Given the description of an element on the screen output the (x, y) to click on. 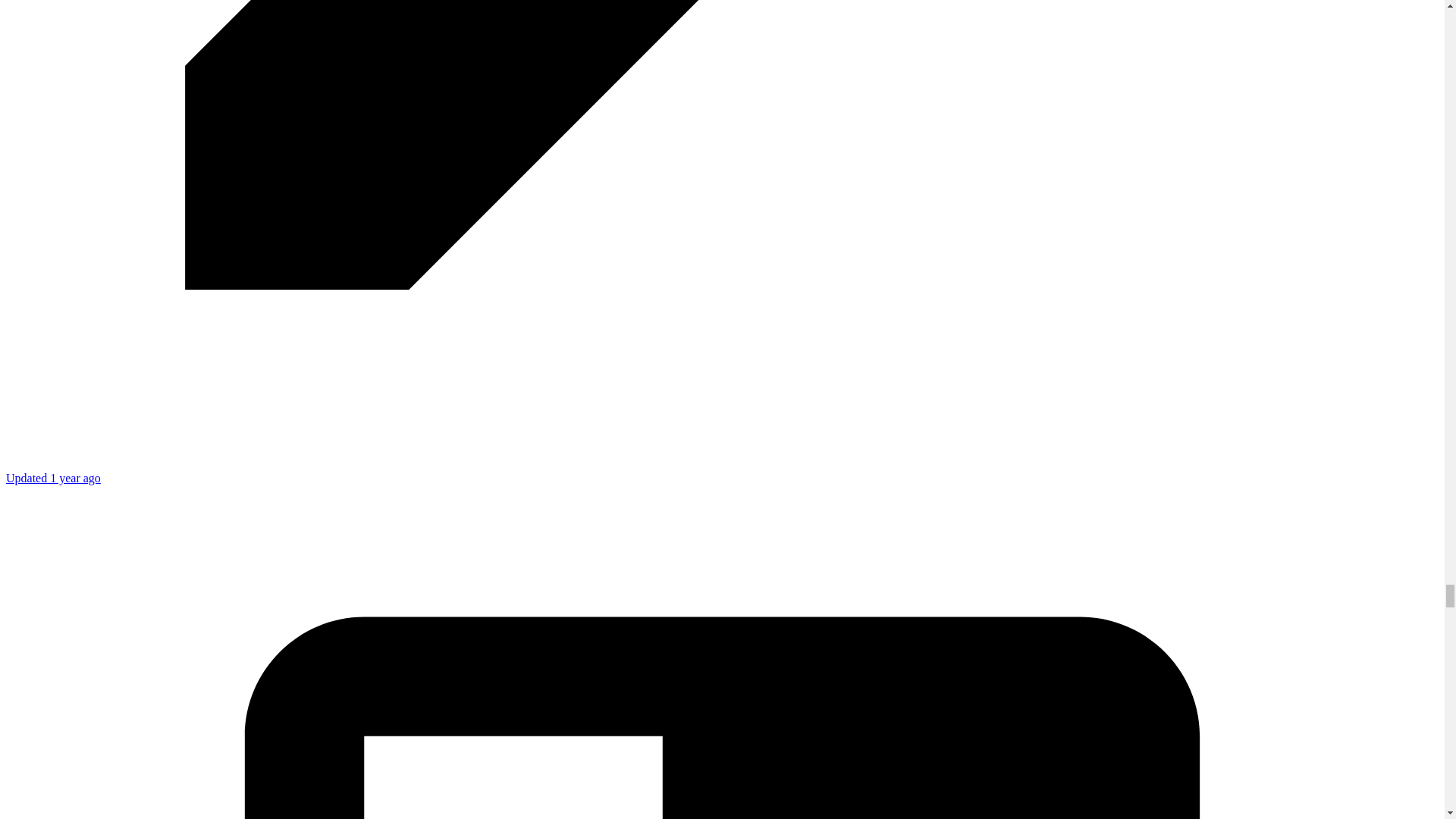
Sun, Nov 13, 2022 2:19 PM (52, 477)
